Given the description of an element on the screen output the (x, y) to click on. 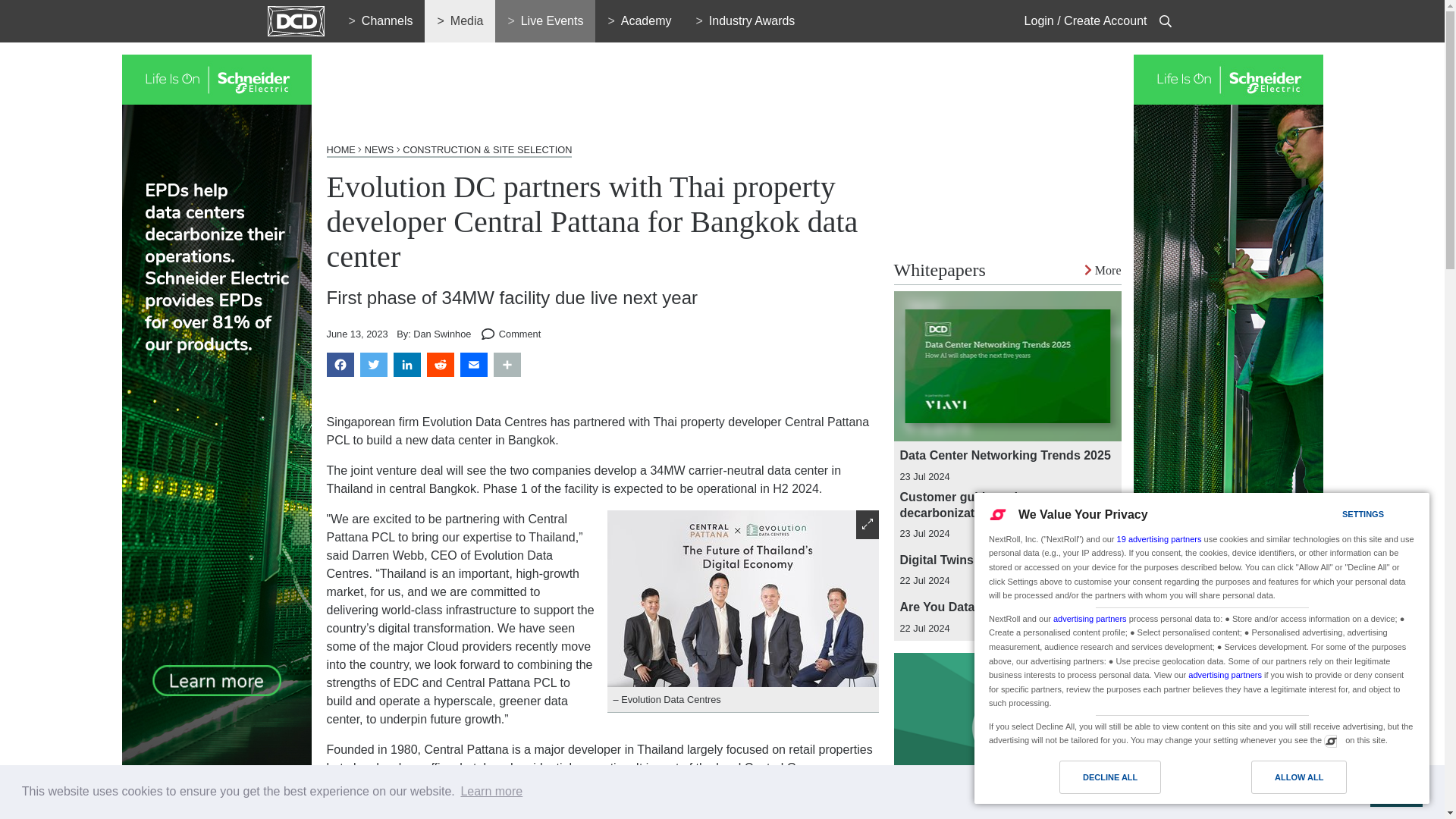
Learn more (491, 791)
Channels (380, 21)
Academy (638, 21)
Industry Awards (744, 21)
Got it! (1396, 791)
Media (460, 21)
3rd party ad content (601, 88)
Live Events (545, 21)
3rd party ad content (1007, 149)
